Given the description of an element on the screen output the (x, y) to click on. 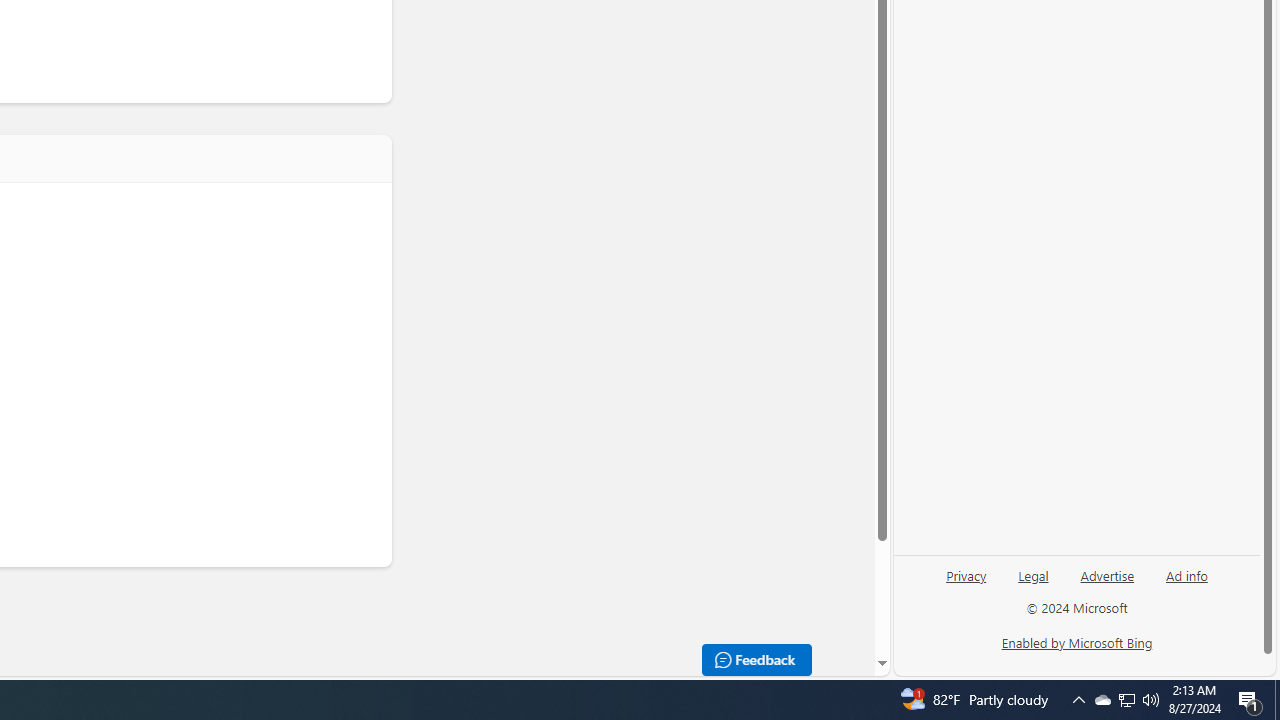
Advertise (1106, 583)
Advertise (1107, 574)
Privacy (966, 583)
Ad info (1187, 574)
Legal (1033, 583)
Ad info (1186, 583)
Privacy (965, 574)
Legal (1033, 574)
